Given the description of an element on the screen output the (x, y) to click on. 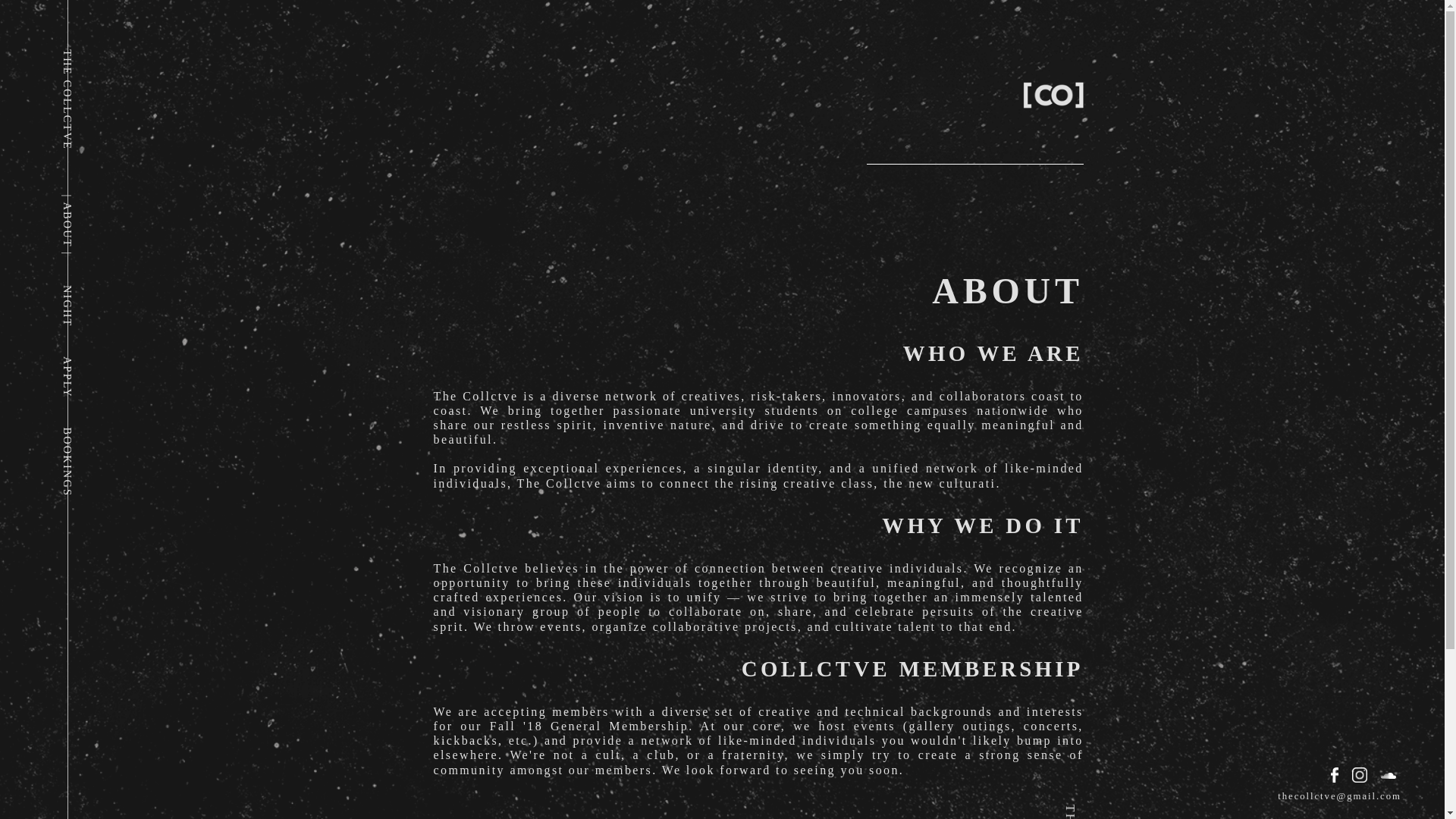
NIGHT (82, 291)
APPLY (82, 362)
BOOKINGS (96, 432)
